Given the description of an element on the screen output the (x, y) to click on. 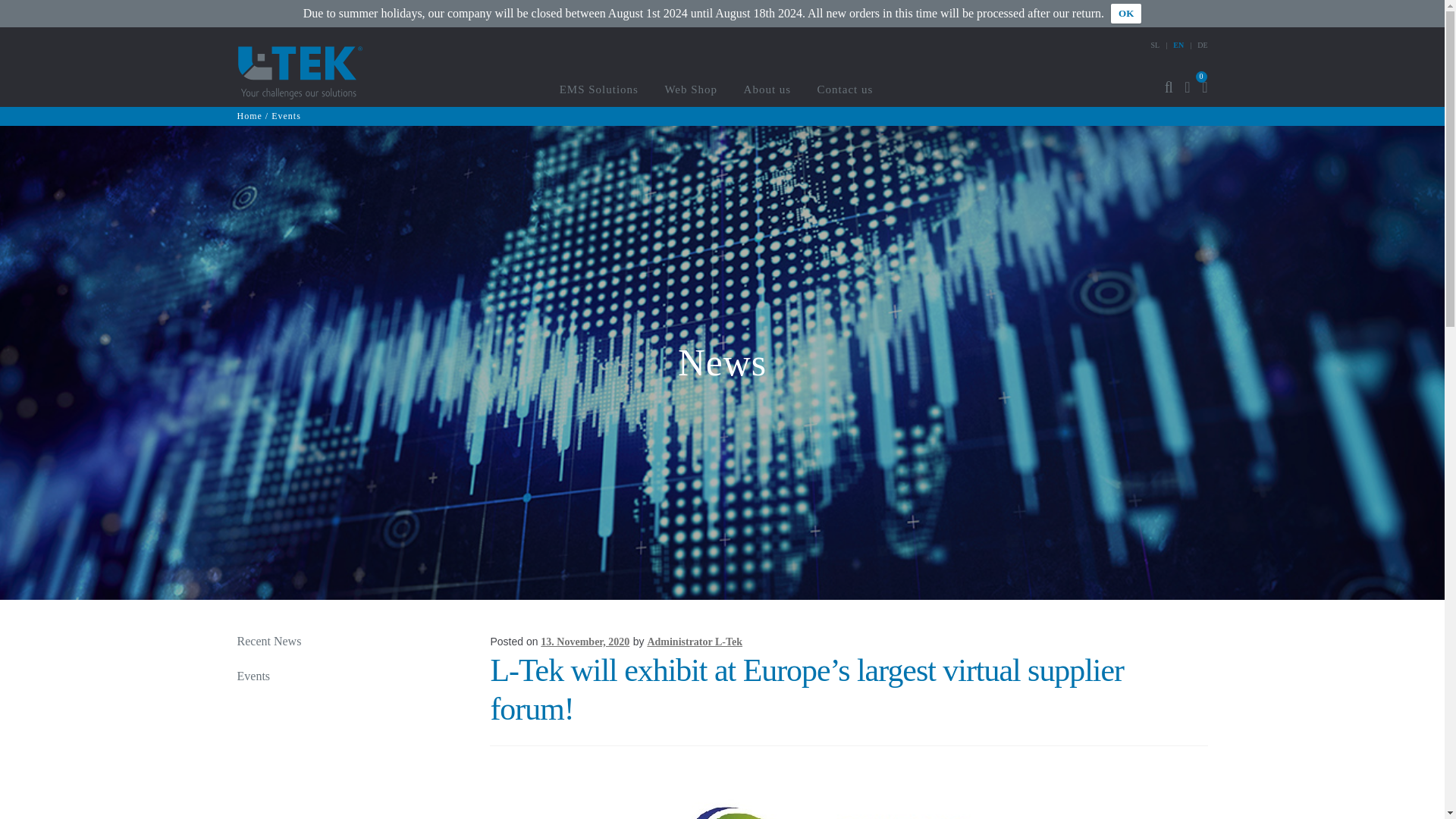
SL (1155, 44)
EMS Solutions (598, 89)
OK (1125, 13)
Contact us (845, 89)
About us (767, 89)
EN (1178, 44)
DE (1201, 44)
Web Shop (690, 89)
